Given the description of an element on the screen output the (x, y) to click on. 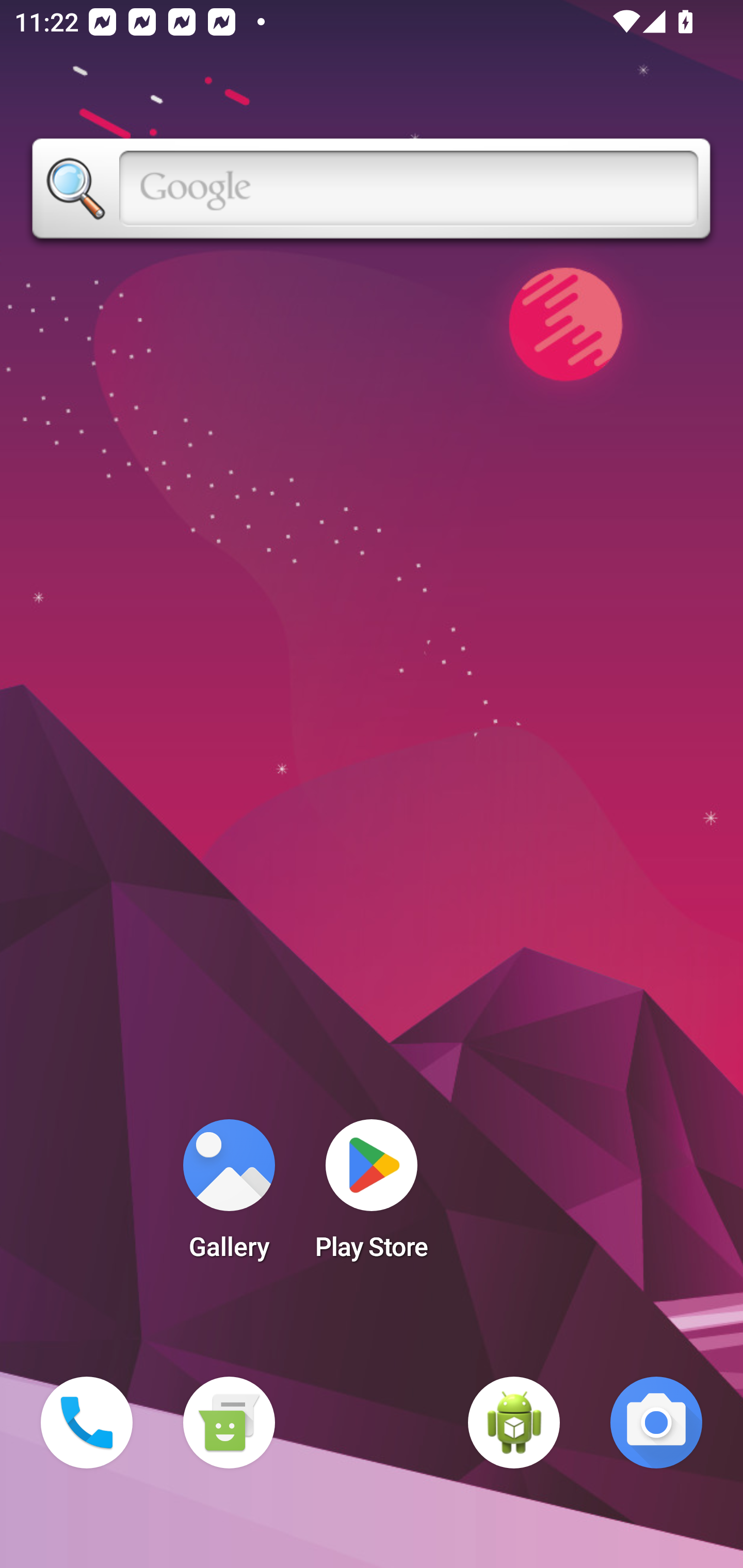
Gallery (228, 1195)
Play Store (371, 1195)
Phone (86, 1422)
Messaging (228, 1422)
WebView Browser Tester (513, 1422)
Camera (656, 1422)
